Given the description of an element on the screen output the (x, y) to click on. 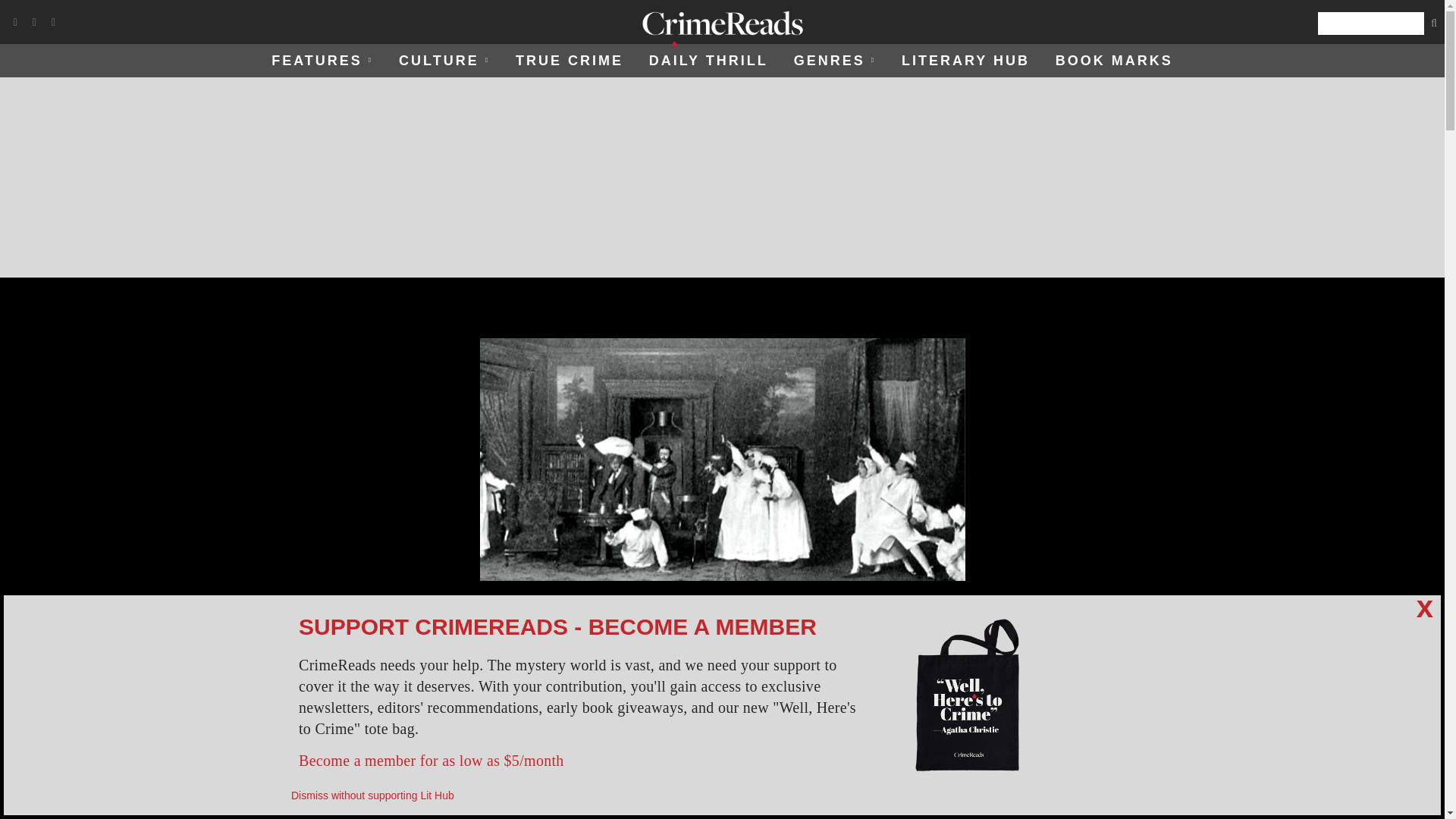
TRUE CRIME (568, 60)
Search (1370, 23)
DAILY THRILL (707, 60)
CULTURE (443, 60)
3rd party ad content (721, 176)
FEATURES (322, 60)
